Given the description of an element on the screen output the (x, y) to click on. 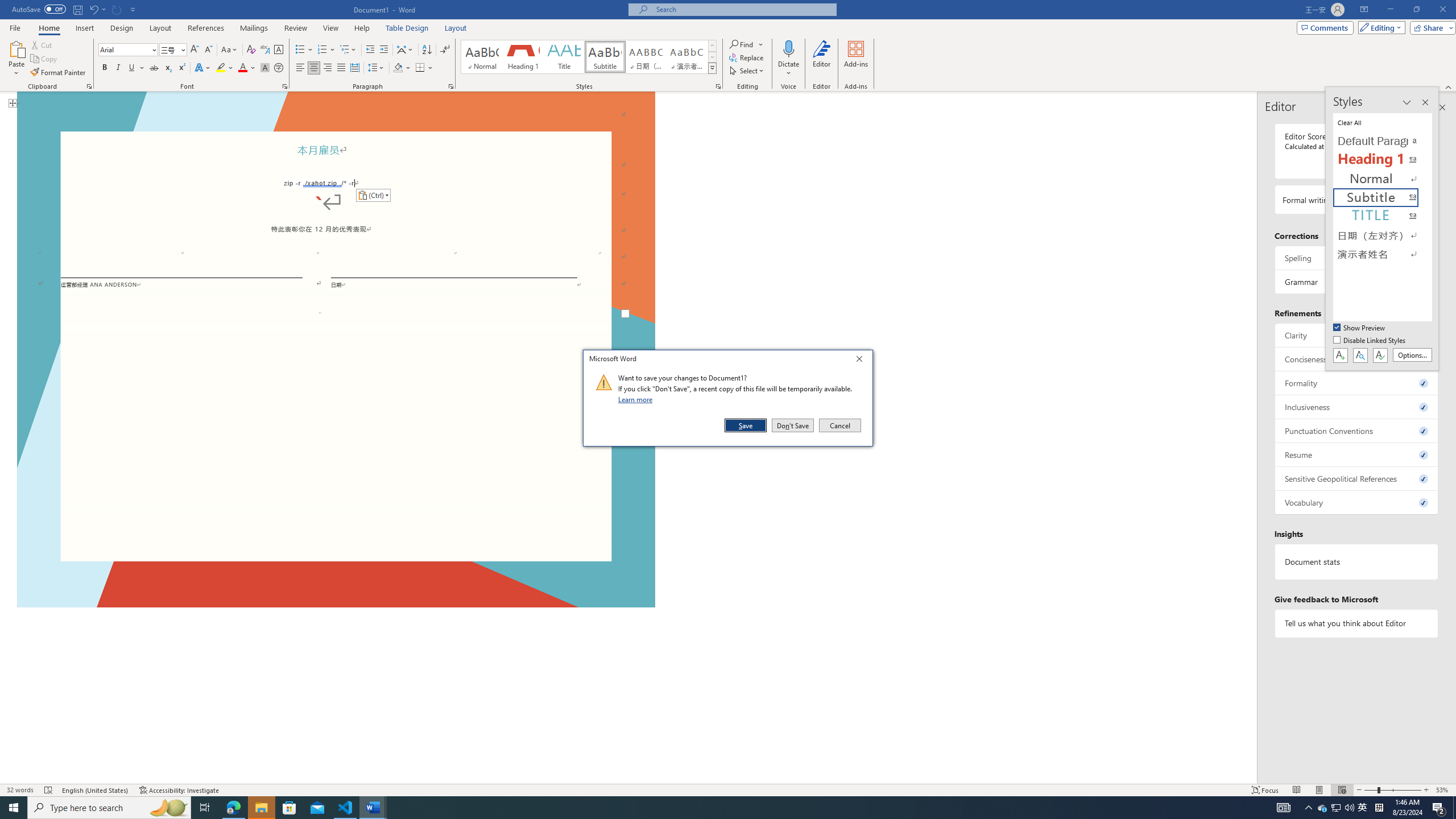
Resume, 0 issues. Press space or enter to review items. (1356, 454)
